Given the description of an element on the screen output the (x, y) to click on. 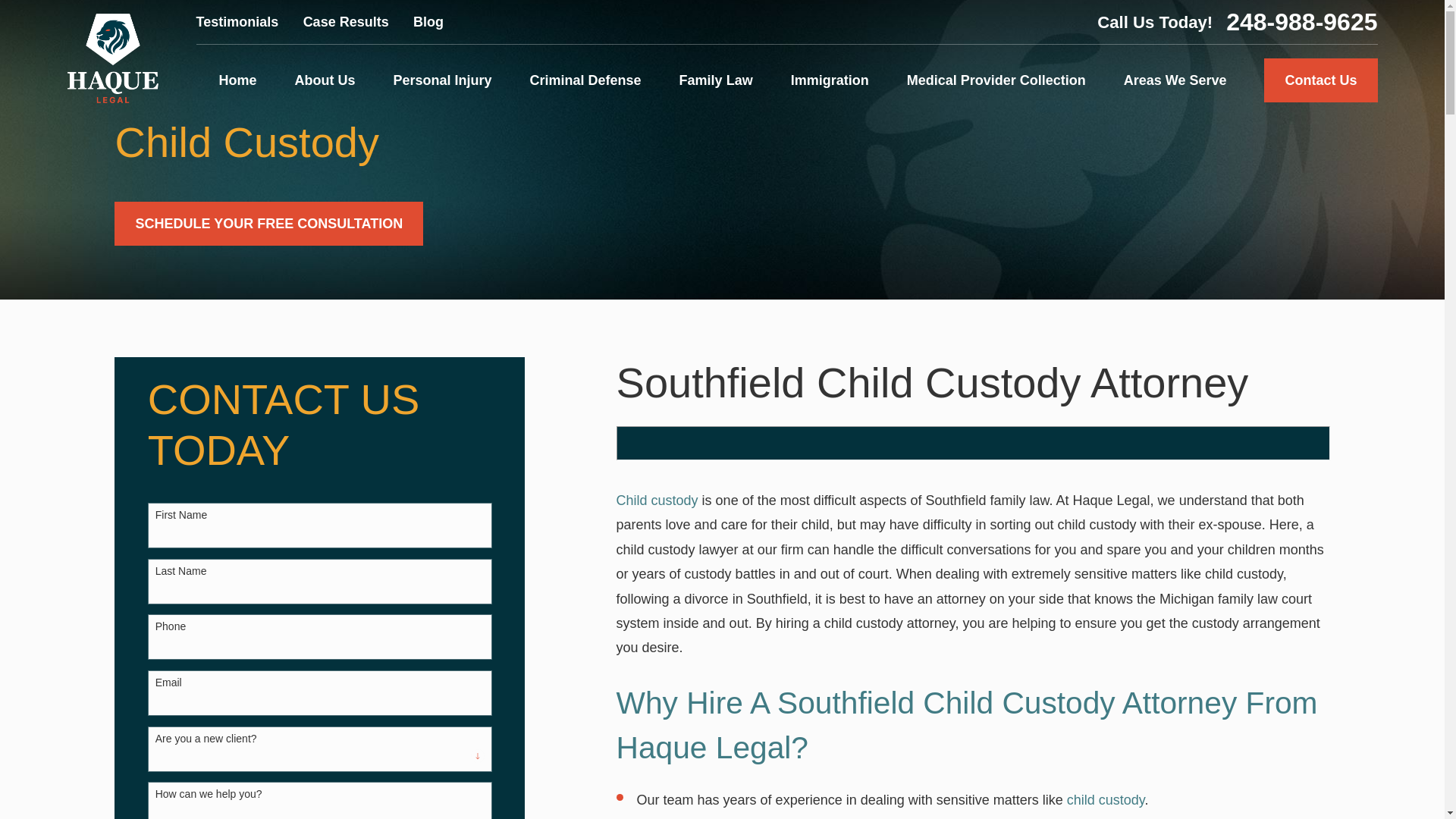
248-988-9625 (1301, 21)
Testimonials (237, 21)
About Us (324, 80)
Personal Injury (442, 80)
Criminal Defense (585, 80)
Blog (428, 21)
Case Results (345, 21)
Family Law (715, 80)
